Given the description of an element on the screen output the (x, y) to click on. 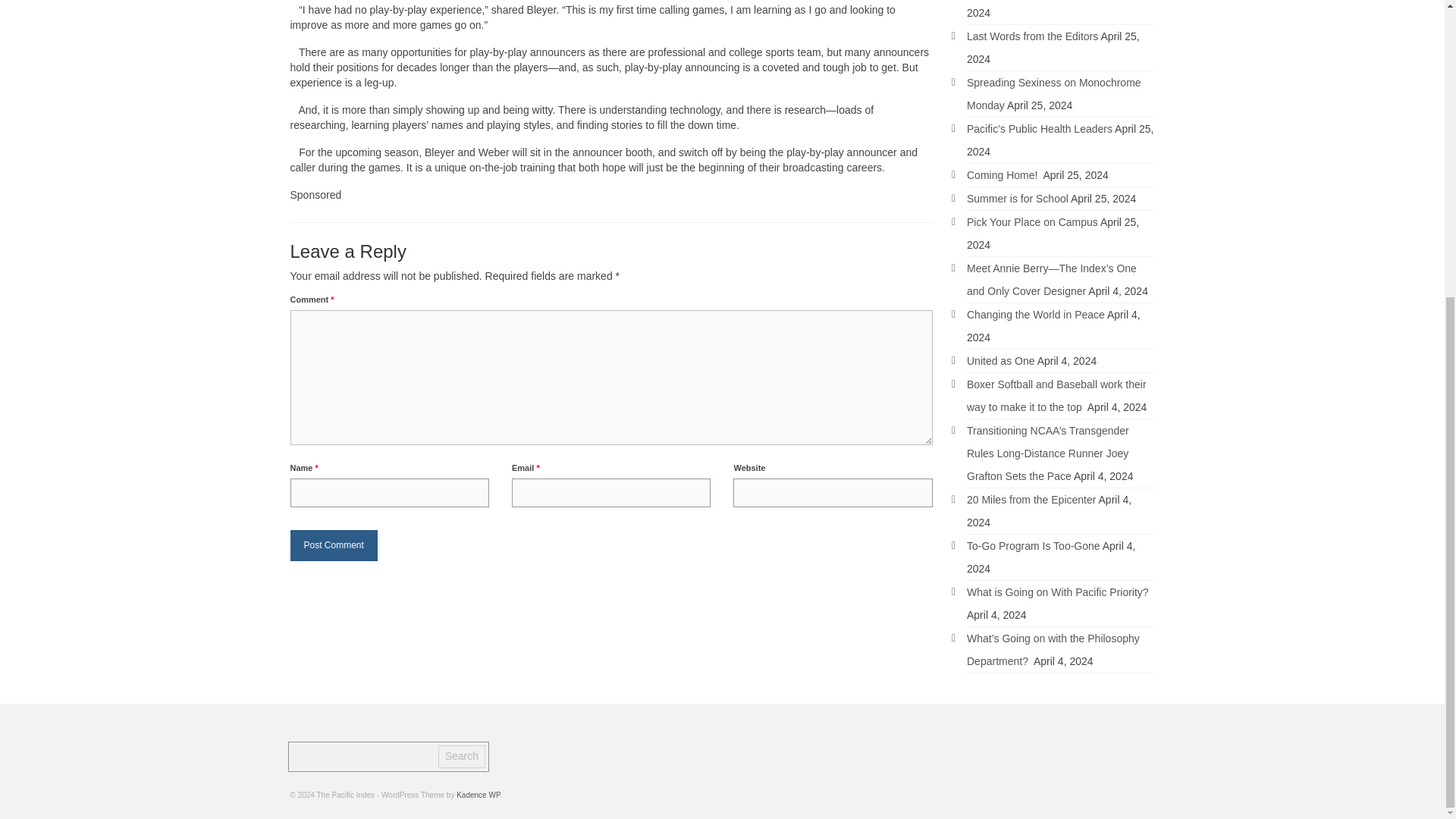
What is Going on With Pacific Priority? (1057, 592)
Changing the World in Peace (1035, 314)
Summer is for School (1017, 198)
To-Go Program Is Too-Gone (1033, 545)
Spreading Sexiness on Monochrome Monday (1053, 93)
Post Comment (333, 545)
Coming Home!  (1003, 174)
Post Comment (333, 545)
20 Miles from the Epicenter (1031, 499)
United as One (1000, 360)
Last Words from the Editors (1031, 36)
Pick Your Place on Campus (1031, 222)
